Given the description of an element on the screen output the (x, y) to click on. 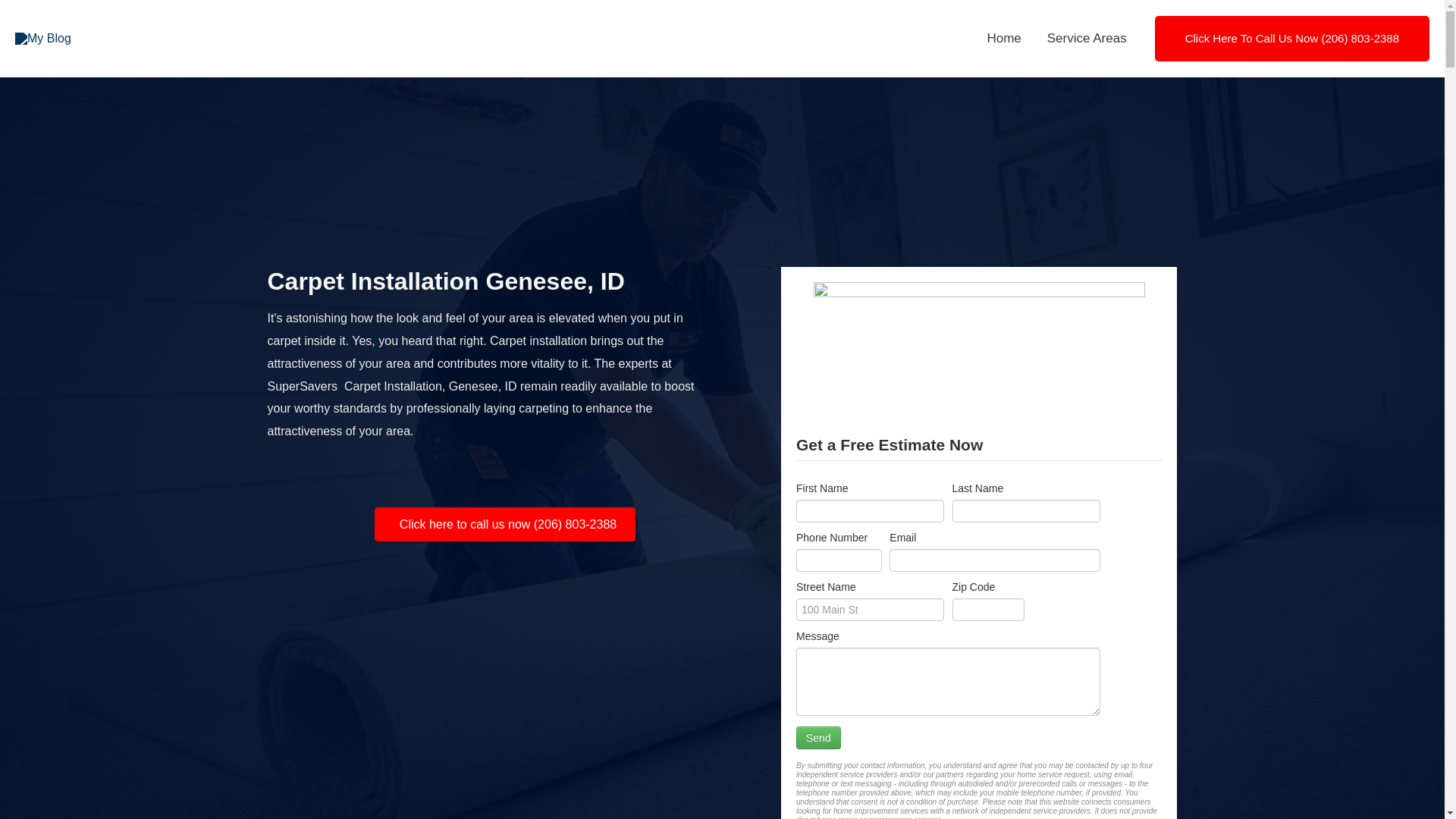
Home (1003, 38)
Service Areas (1086, 38)
